Given the description of an element on the screen output the (x, y) to click on. 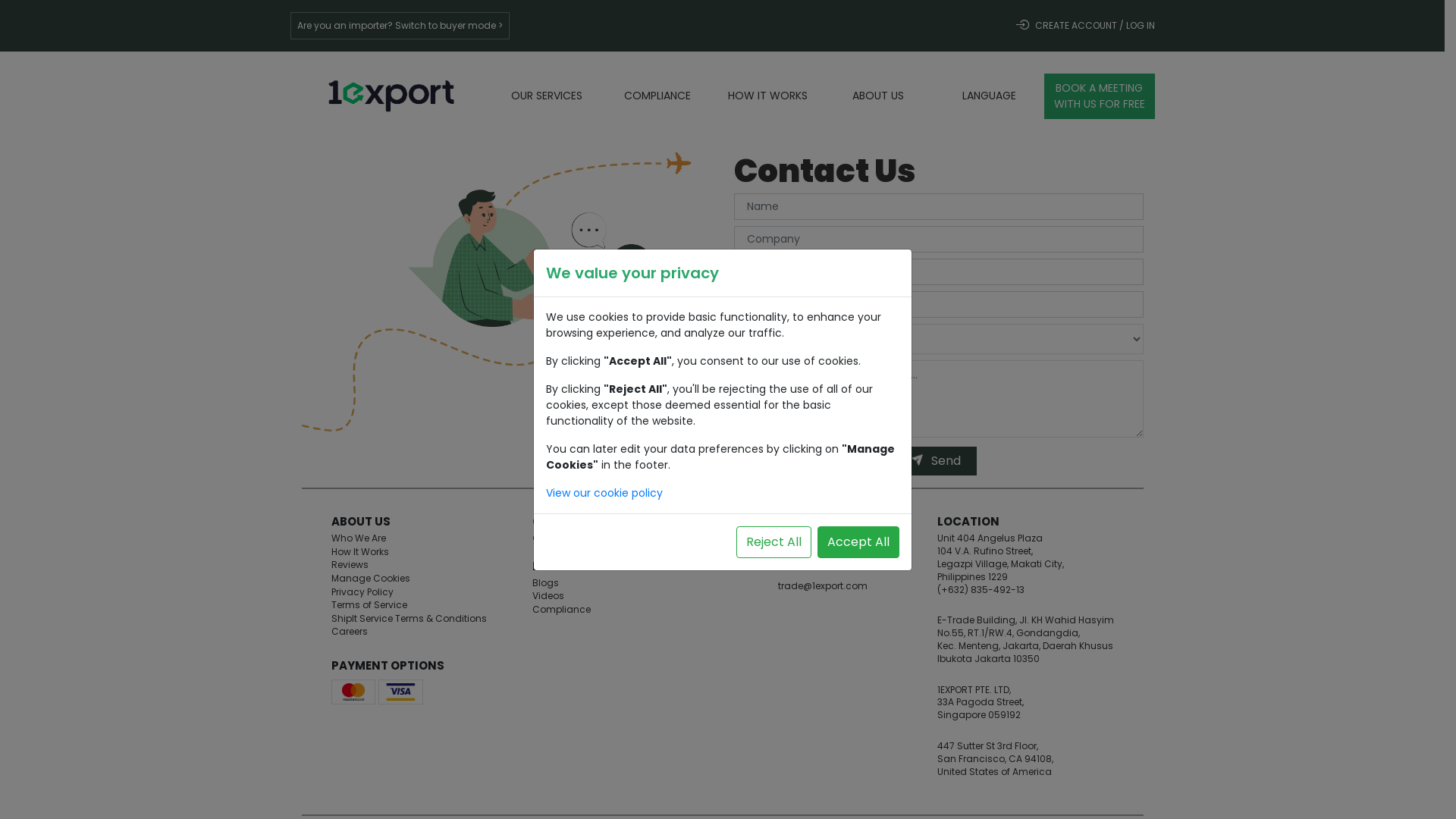
Videos Element type: text (548, 596)
COMPLIANCE Element type: text (657, 95)
Careers Element type: text (348, 632)
ShipIt Service Terms & Conditions Element type: text (408, 619)
OUR SERVICES Element type: text (546, 95)
trade@1export.com Element type: text (822, 585)
Manage Cookies Element type: text (369, 579)
ABOUT US Element type: text (878, 95)
Accept All Element type: text (858, 542)
Blogs Element type: text (545, 583)
View our cookie policy Element type: text (604, 492)
HOW IT WORKS Element type: text (767, 95)
CREATE ACCOUNT / LOG IN Element type: text (1083, 25)
Are you an importer? Switch to buyer mode > Element type: text (398, 25)
LANGUAGE Element type: text (989, 95)
Reviews Element type: text (348, 565)
Send Element type: text (938, 460)
How It Works Element type: text (359, 552)
Contact Us Element type: text (558, 539)
Reject All Element type: text (772, 542)
Who We Are Element type: text (357, 539)
BOOK A MEETING WITH US FOR FREE Element type: text (1099, 95)
Compliance Element type: text (561, 610)
Privacy Policy Element type: text (361, 592)
Terms of Service Element type: text (368, 605)
